Given the description of an element on the screen output the (x, y) to click on. 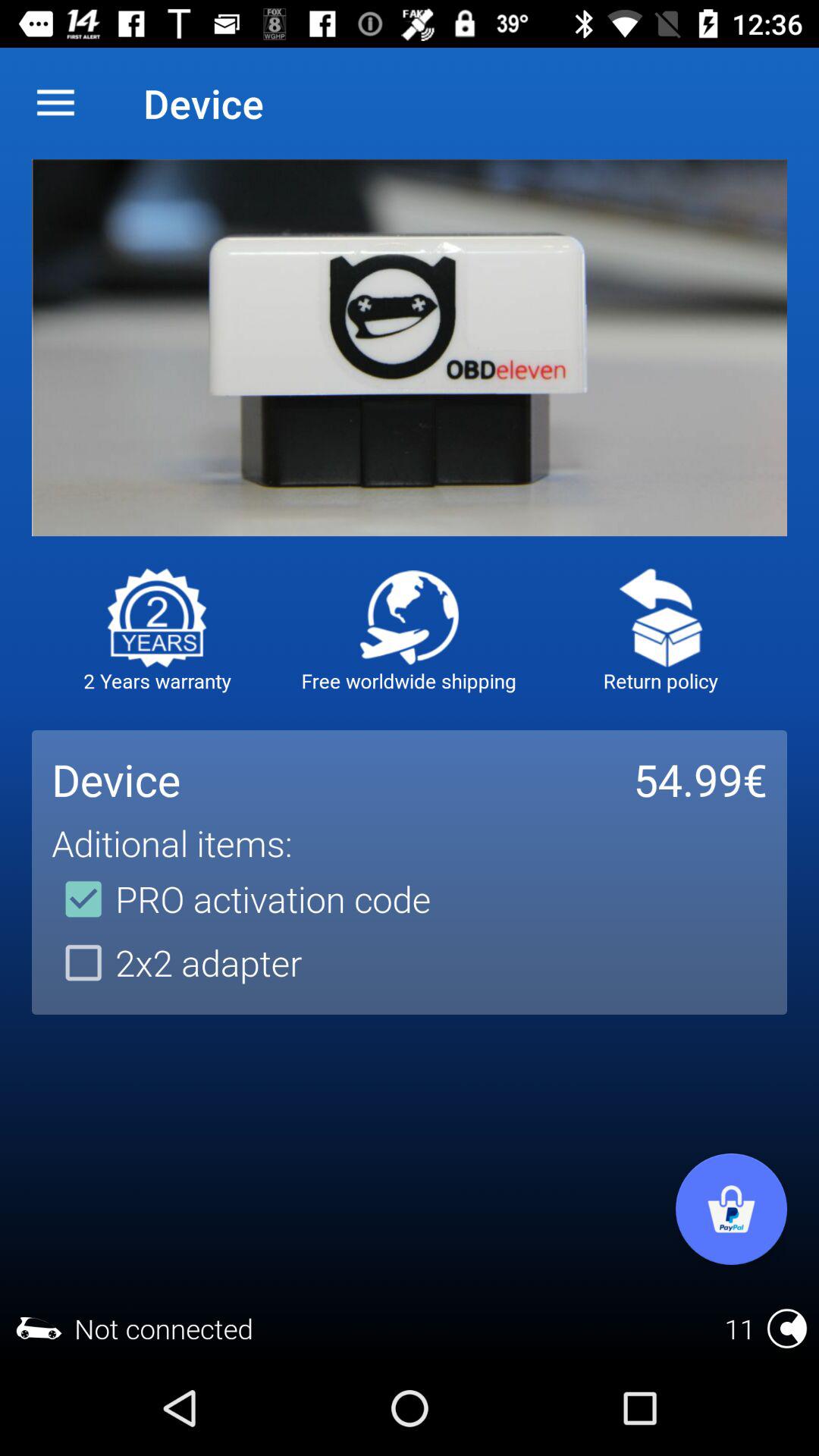
turn on the item below the aditional items: icon (241, 899)
